Given the description of an element on the screen output the (x, y) to click on. 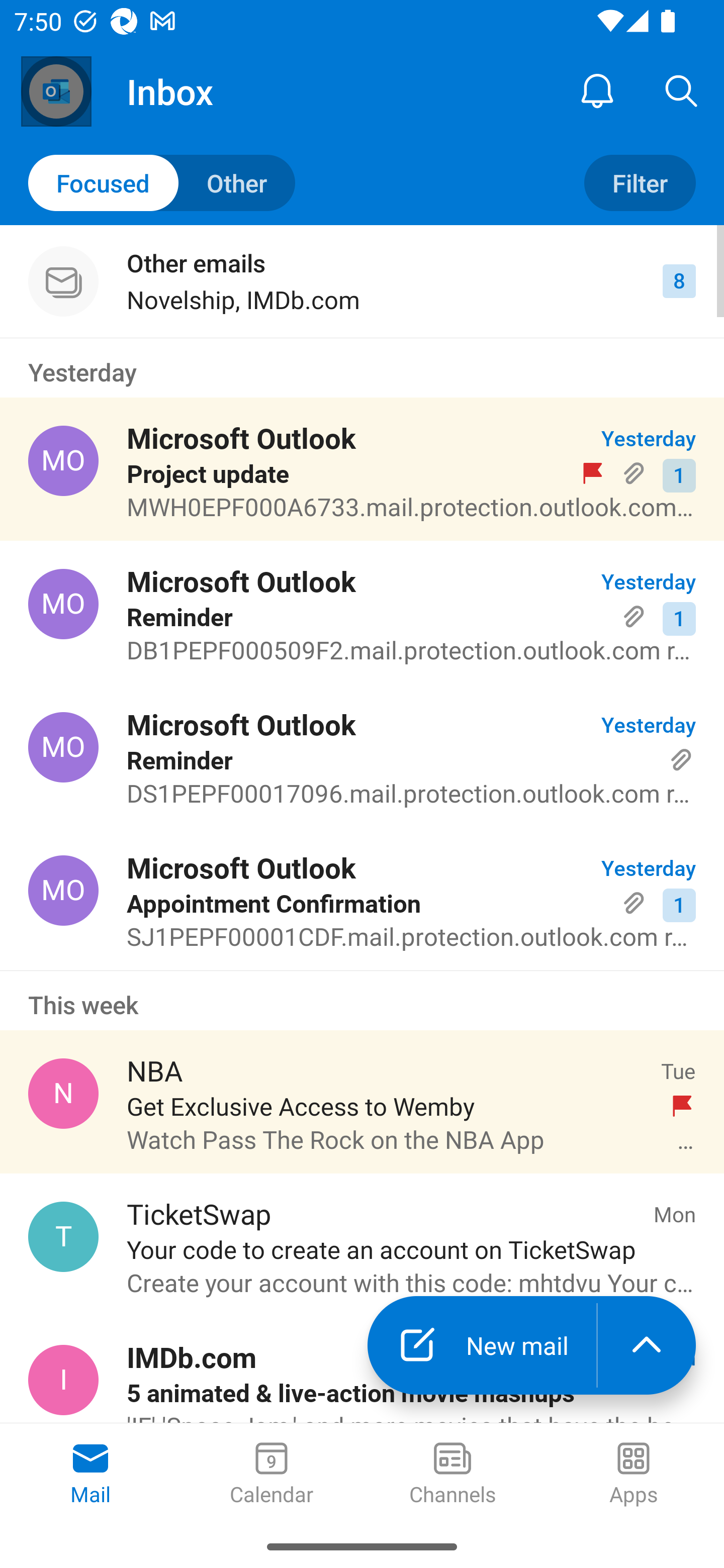
Notification Center (597, 90)
Search, ,  (681, 90)
Open Navigation Drawer (55, 91)
Toggle to other mails (161, 183)
Filter (639, 183)
Other emails Novelship, IMDb.com 8 (362, 281)
NBA, NBA@email.nba.com (63, 1093)
TicketSwap, info@ticketswap.com (63, 1236)
New mail (481, 1344)
launch the extended action menu (646, 1344)
IMDb.com, do-not-reply@imdb.com (63, 1380)
Calendar (271, 1474)
Channels (452, 1474)
Apps (633, 1474)
